Given the description of an element on the screen output the (x, y) to click on. 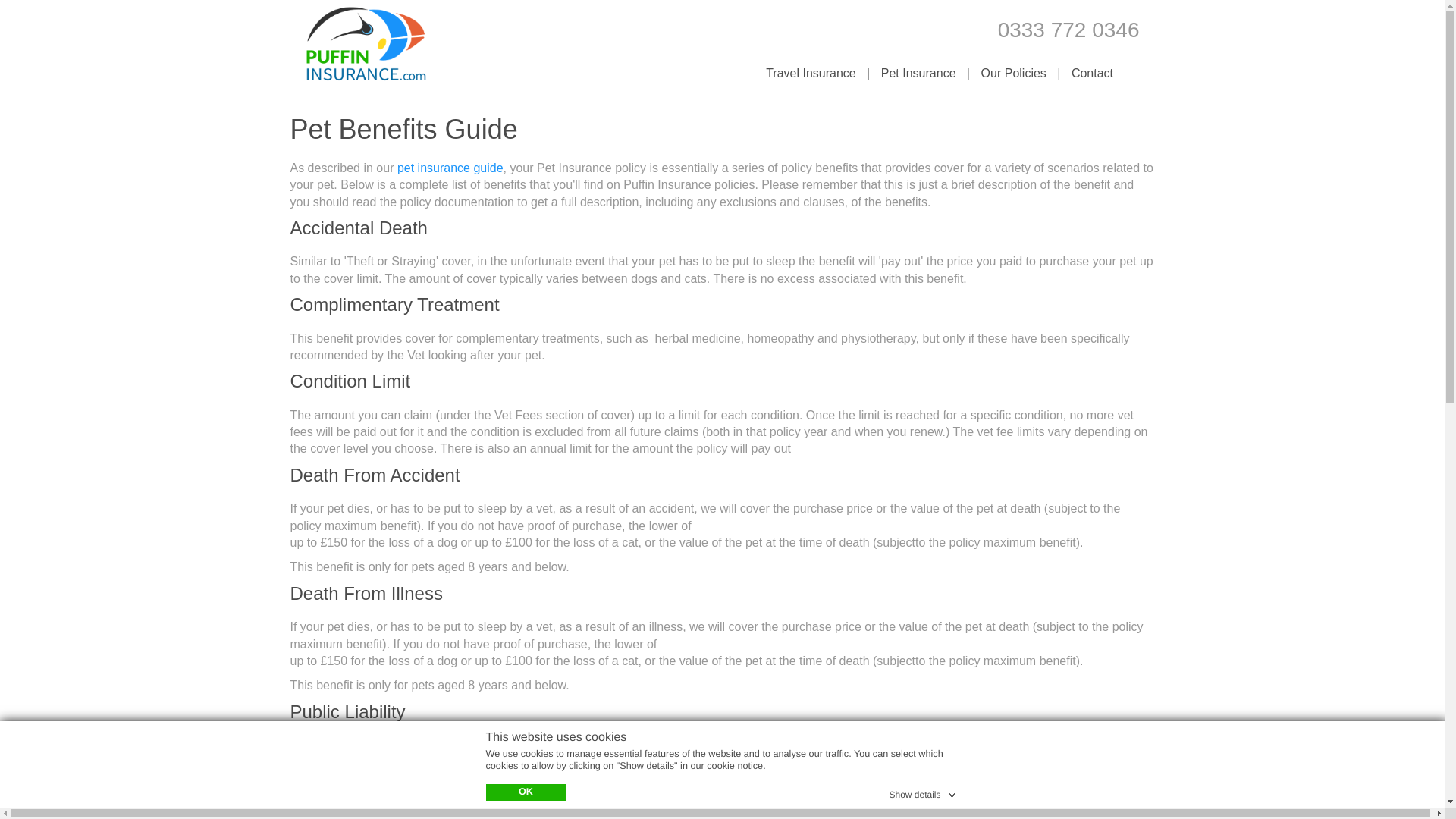
Contact (1092, 72)
Travel Insurance (810, 72)
Our Policies (1014, 72)
Show details (923, 791)
OK (525, 791)
pet insurance guide (450, 167)
Pet Insurance (918, 72)
